Given the description of an element on the screen output the (x, y) to click on. 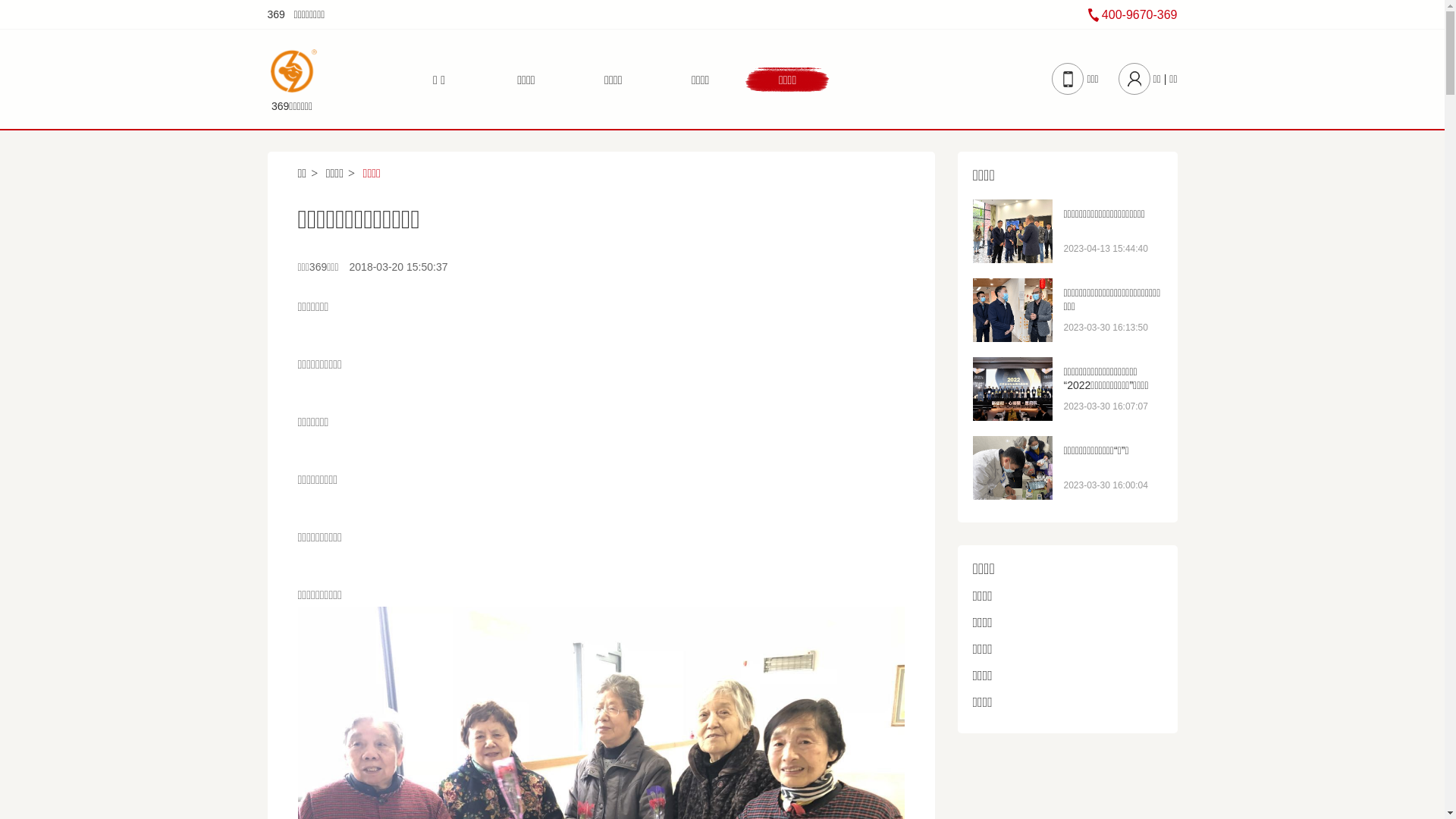
400-9670-369 Element type: text (1132, 14)
